Given the description of an element on the screen output the (x, y) to click on. 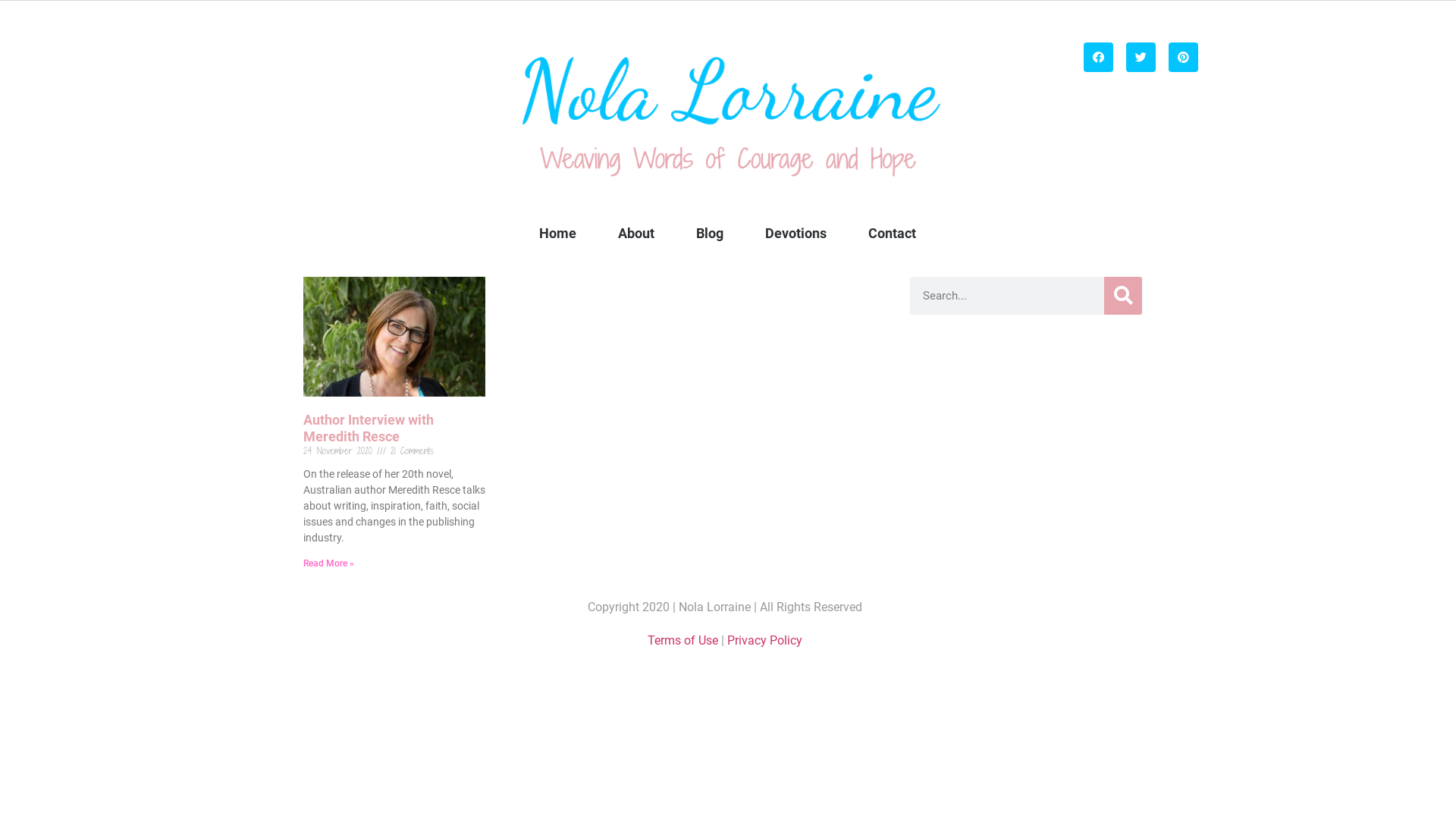
About Element type: text (636, 233)
Devotions Element type: text (795, 233)
Contact Element type: text (892, 233)
Blog Element type: text (709, 233)
Privacy Policy Element type: text (764, 640)
Home Element type: text (557, 233)
Terms of Use Element type: text (682, 640)
Author Interview with Meredith Resce Element type: text (368, 427)
